Given the description of an element on the screen output the (x, y) to click on. 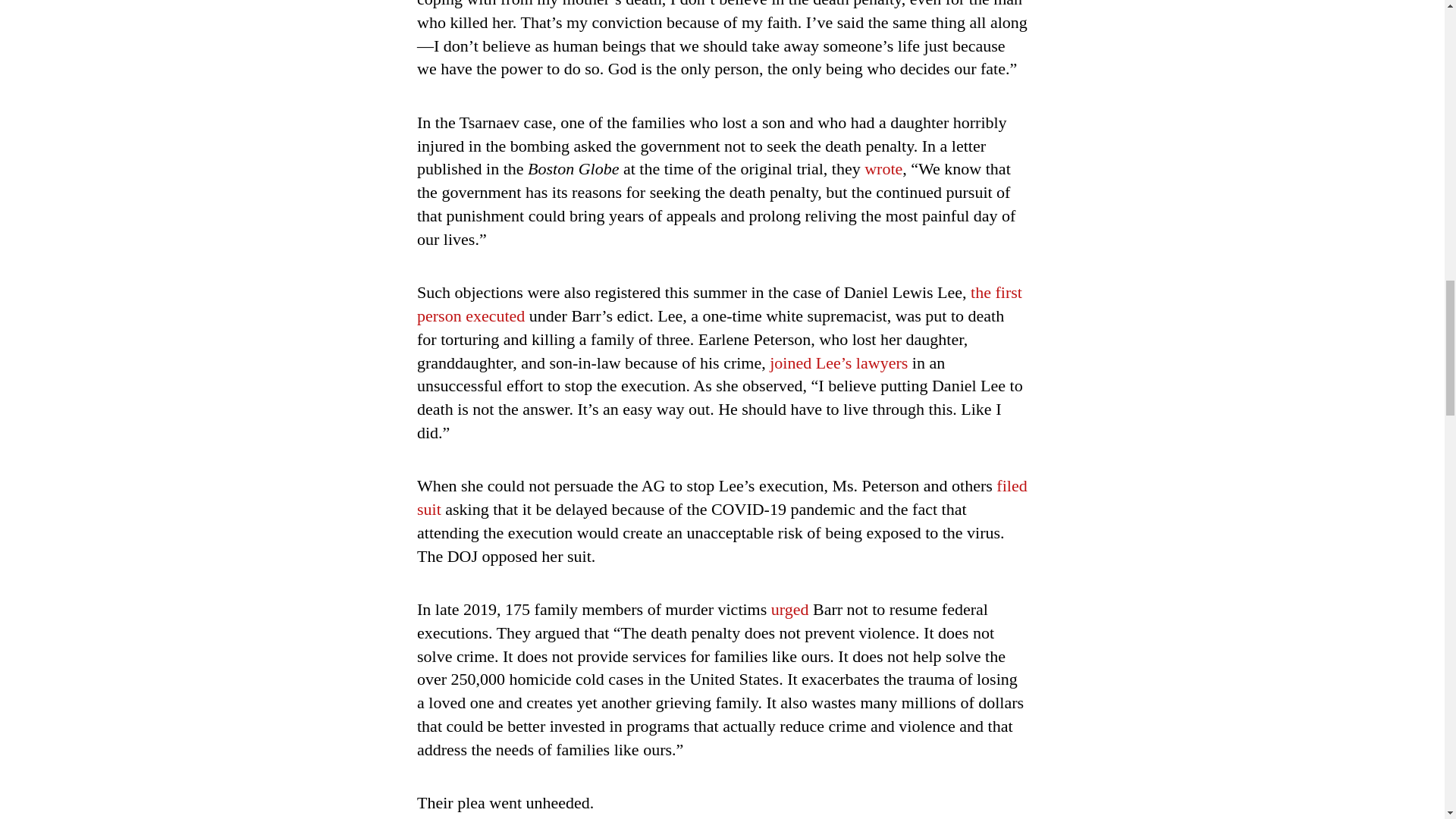
urged (790, 609)
the first person executed (719, 303)
filed suit (721, 496)
wrote (883, 168)
